Given the description of an element on the screen output the (x, y) to click on. 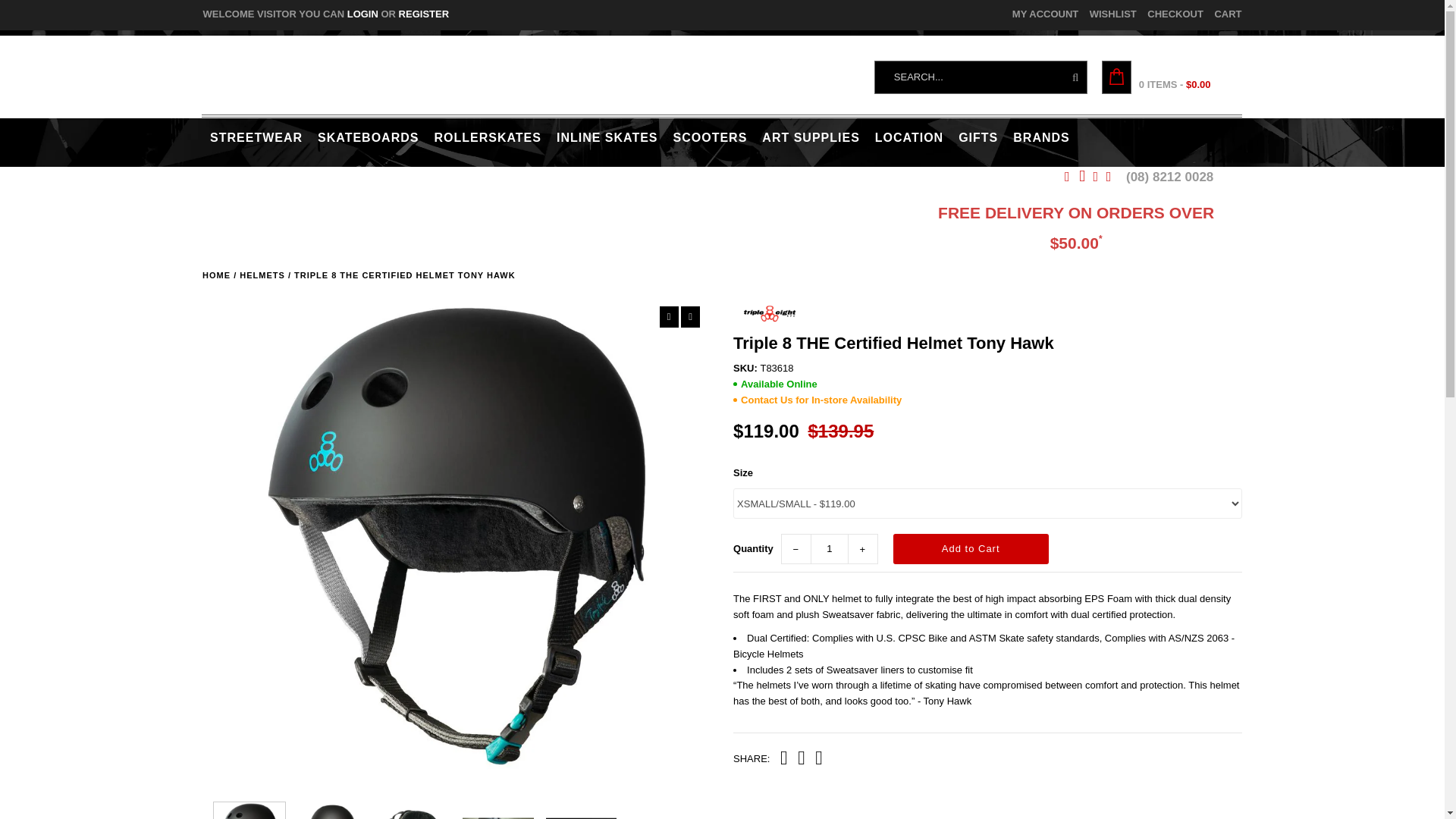
GIFTS (978, 137)
WISHLIST (1113, 13)
ROLLERSKATES (487, 137)
Home (216, 275)
MY ACCOUNT (1044, 13)
SKATEBOARDS (368, 137)
LOCATION (908, 137)
STREETWEAR (256, 137)
REGISTER (423, 13)
Exclusions apply. See our shipping terms for more details. (1075, 229)
1 (829, 548)
BRANDS (1041, 137)
INLINE SKATES (606, 137)
LOGIN (362, 13)
ART SUPPLIES (810, 137)
